Given the description of an element on the screen output the (x, y) to click on. 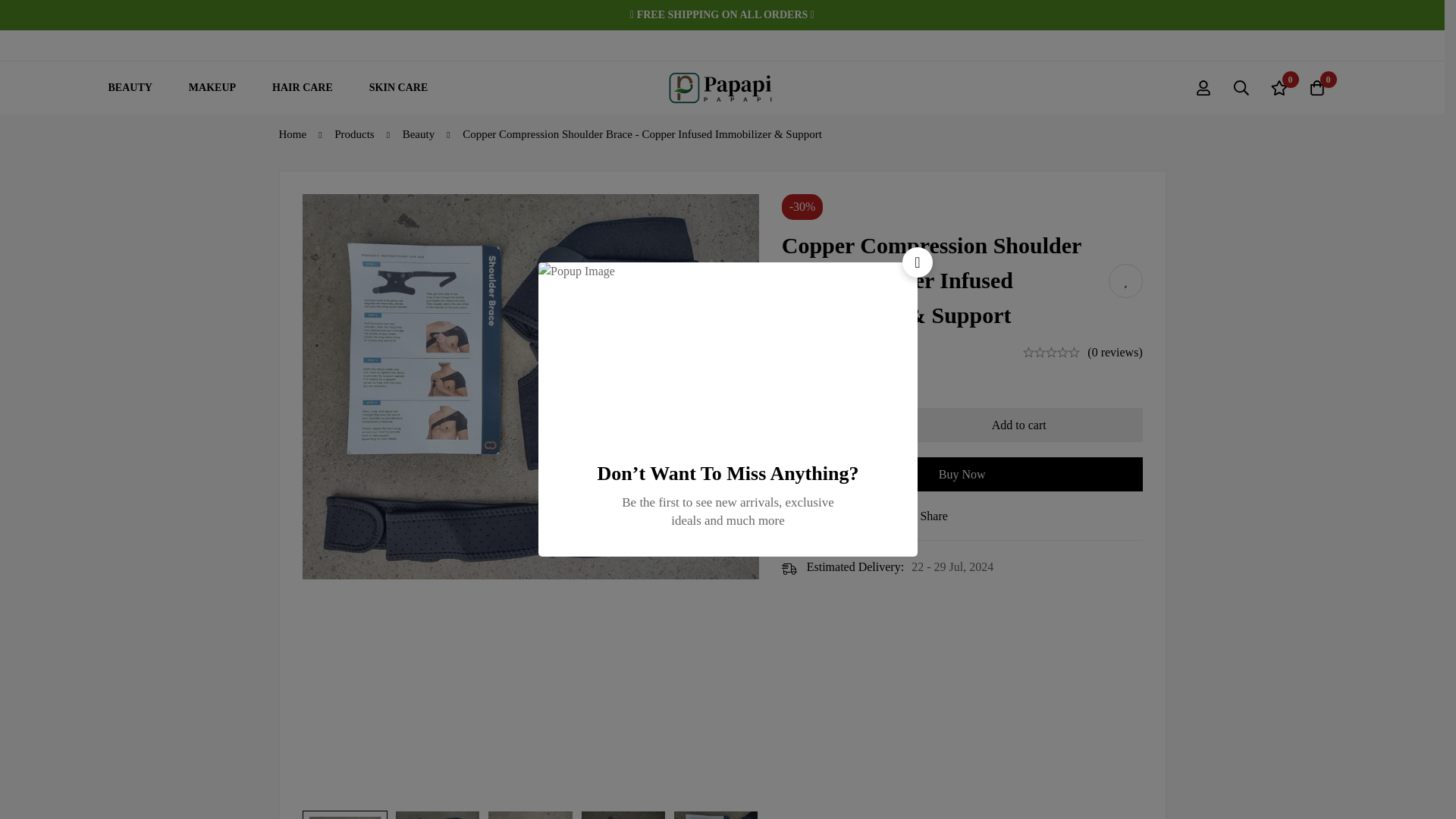
Add To Wishlist (1125, 280)
HAIR CARE (302, 87)
0 (1279, 87)
- (797, 424)
MAKEUP (211, 87)
Buy Now (961, 474)
Ask a Question (828, 516)
Beauty (419, 134)
BEAUTY (129, 87)
1 (830, 424)
Home (293, 134)
SKIN CARE (398, 87)
0 (1317, 87)
Products (354, 134)
Share (923, 516)
